Given the description of an element on the screen output the (x, y) to click on. 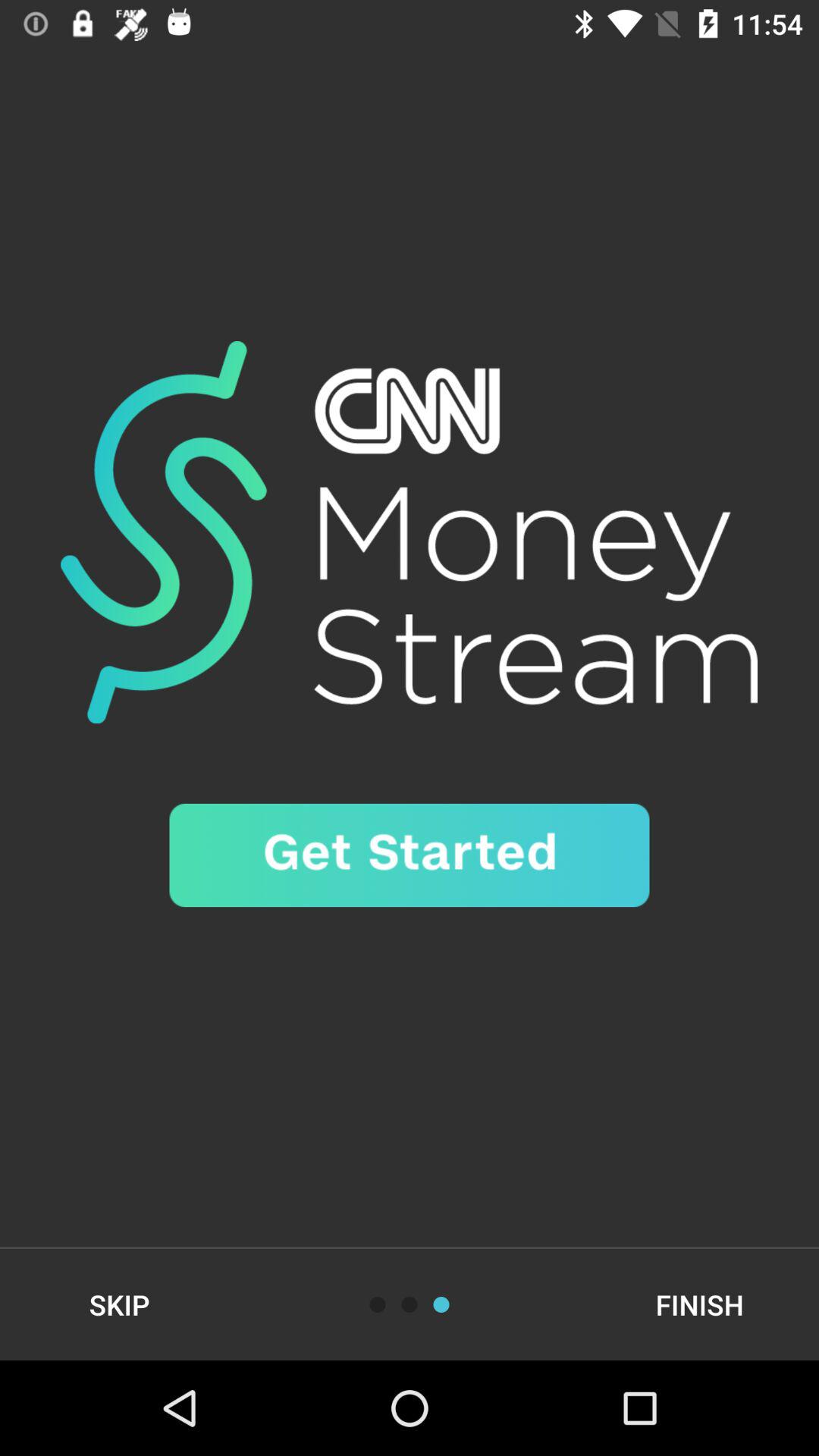
flip to finish (699, 1304)
